Given the description of an element on the screen output the (x, y) to click on. 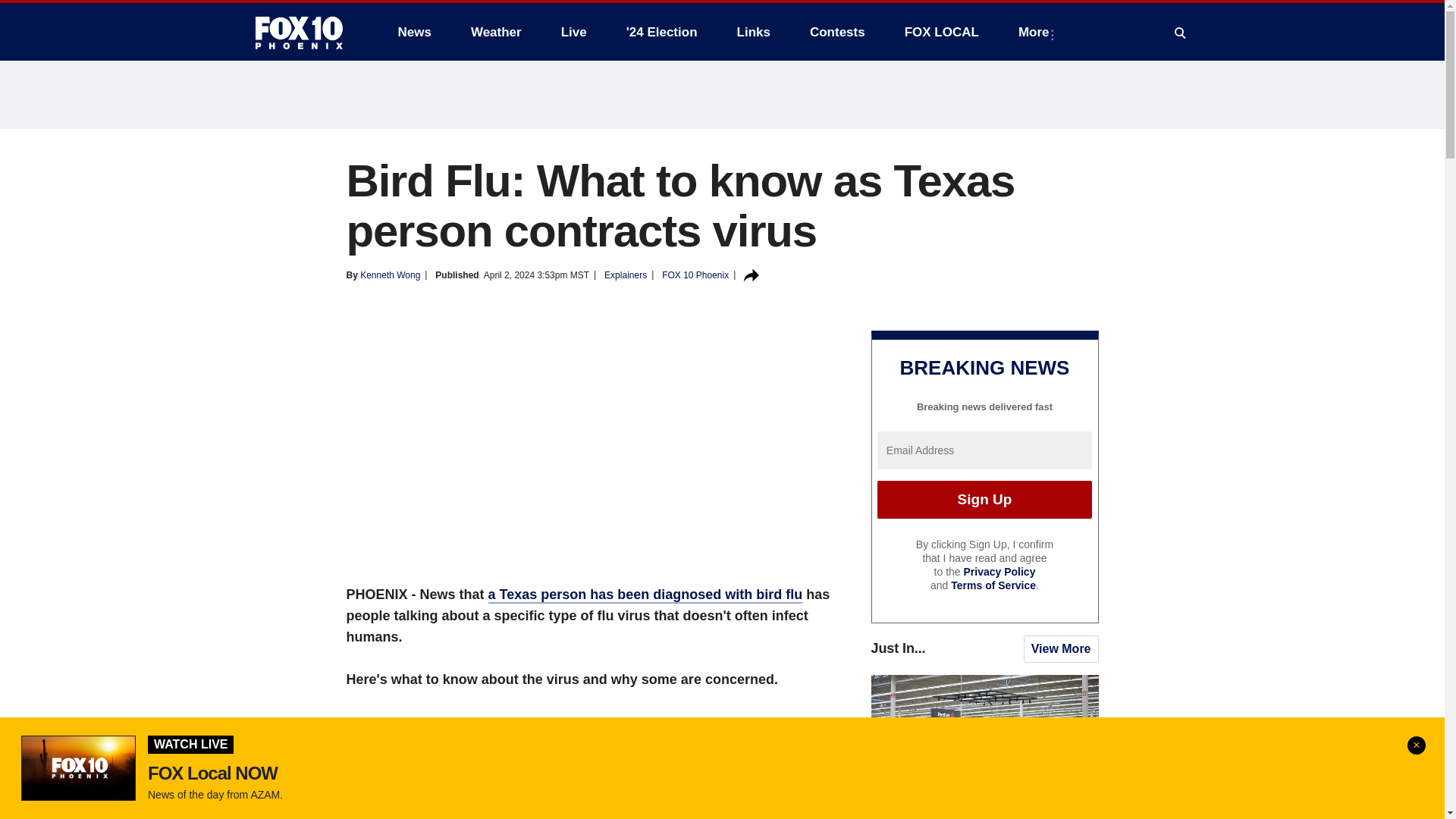
News (413, 32)
FOX LOCAL (941, 32)
Live (573, 32)
More (1036, 32)
Weather (496, 32)
'24 Election (662, 32)
Contests (837, 32)
Links (754, 32)
Sign Up (984, 499)
